Given the description of an element on the screen output the (x, y) to click on. 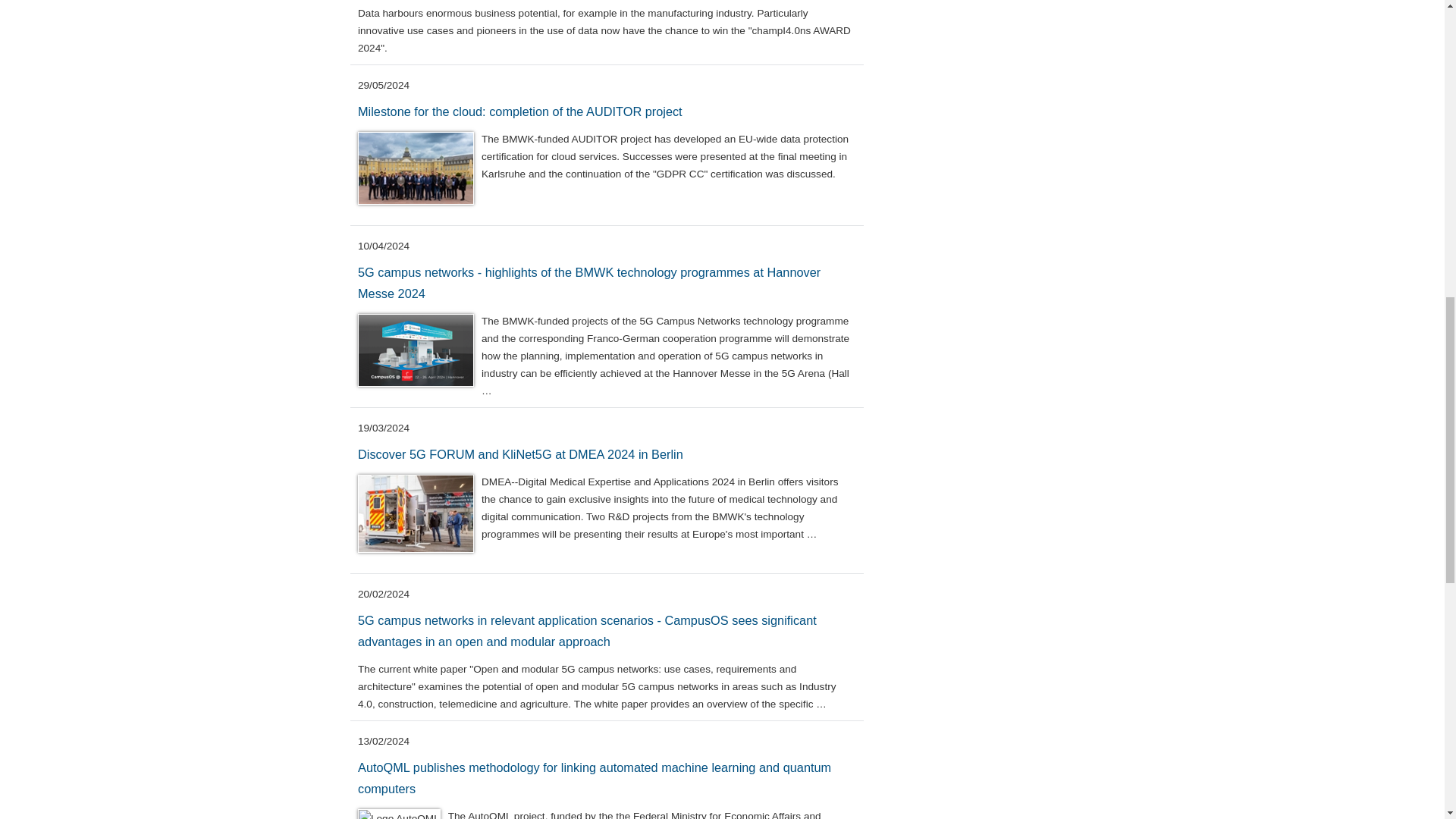
Milestone for the cloud: completion of the AUDITOR project (520, 110)
